Given the description of an element on the screen output the (x, y) to click on. 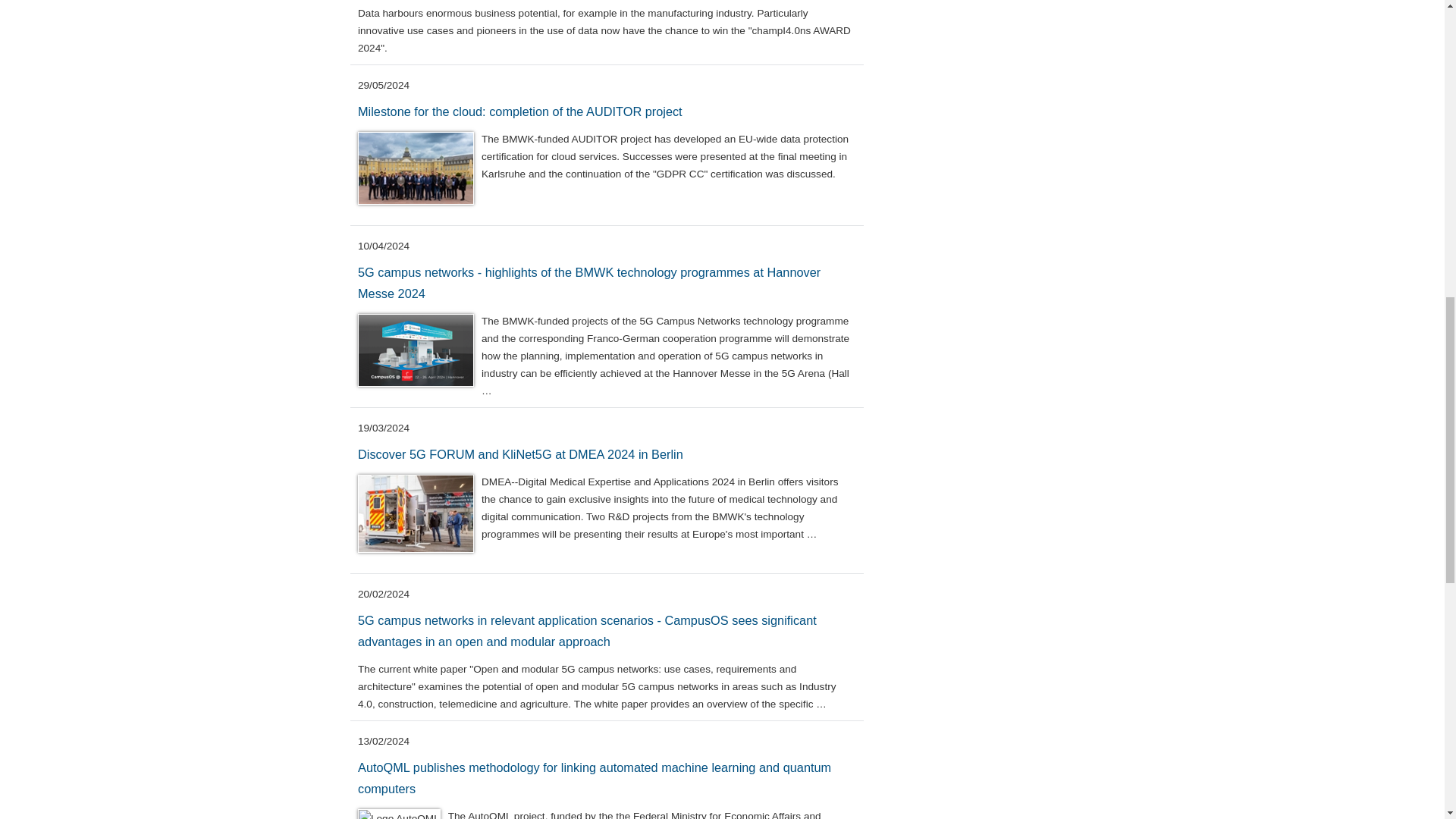
Milestone for the cloud: completion of the AUDITOR project (520, 110)
